Given the description of an element on the screen output the (x, y) to click on. 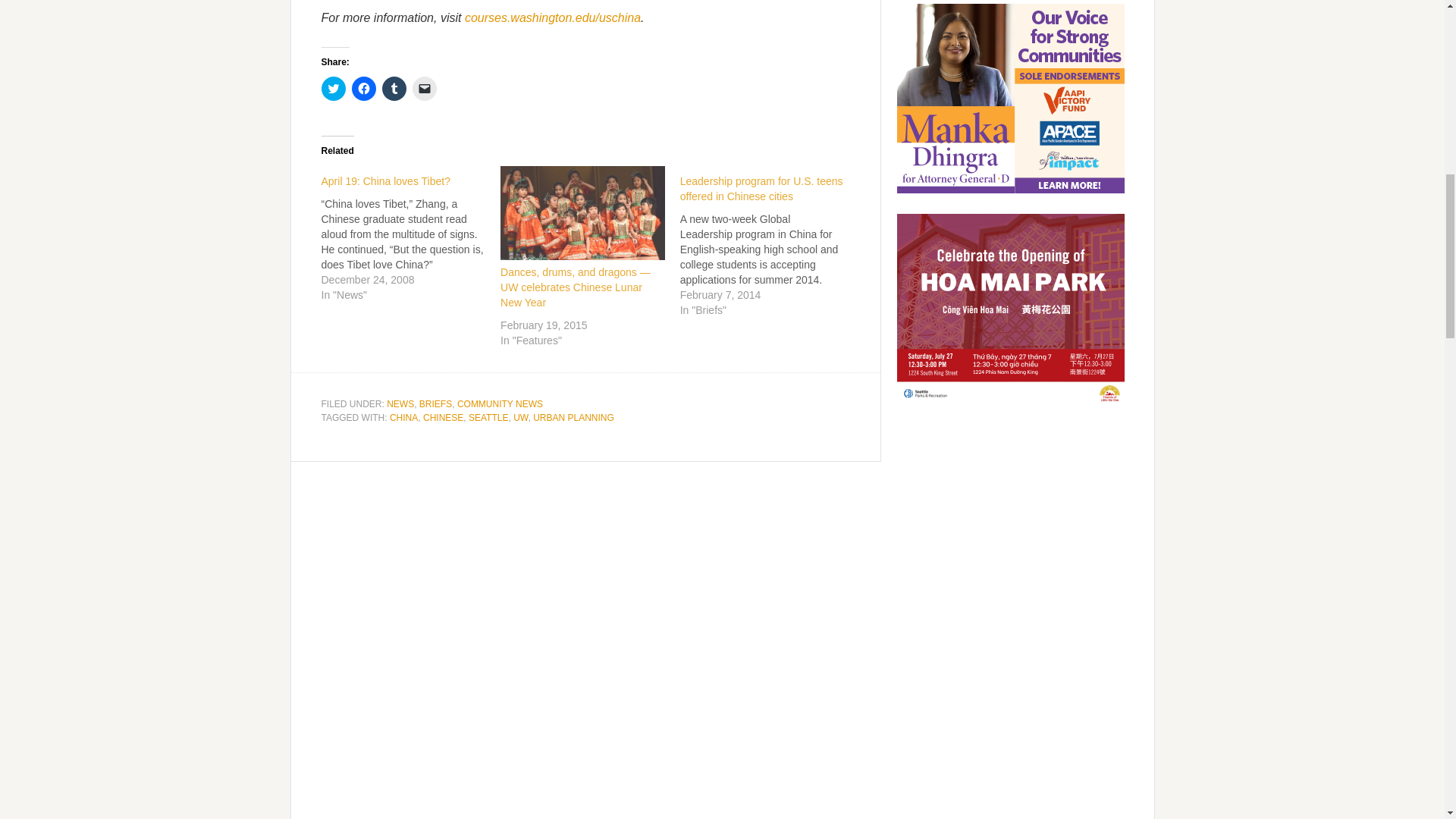
Click to share on Tumblr (393, 88)
Leadership program for U.S. teens offered in Chinese cities (761, 188)
Click to share on Facebook (363, 88)
Click to share on Twitter (333, 88)
April 19: China loves Tibet? (410, 234)
Leadership program for U.S. teens offered in Chinese cities (769, 241)
April 19: China loves Tibet? (385, 181)
Click to email a link to a friend (424, 88)
